Given the description of an element on the screen output the (x, y) to click on. 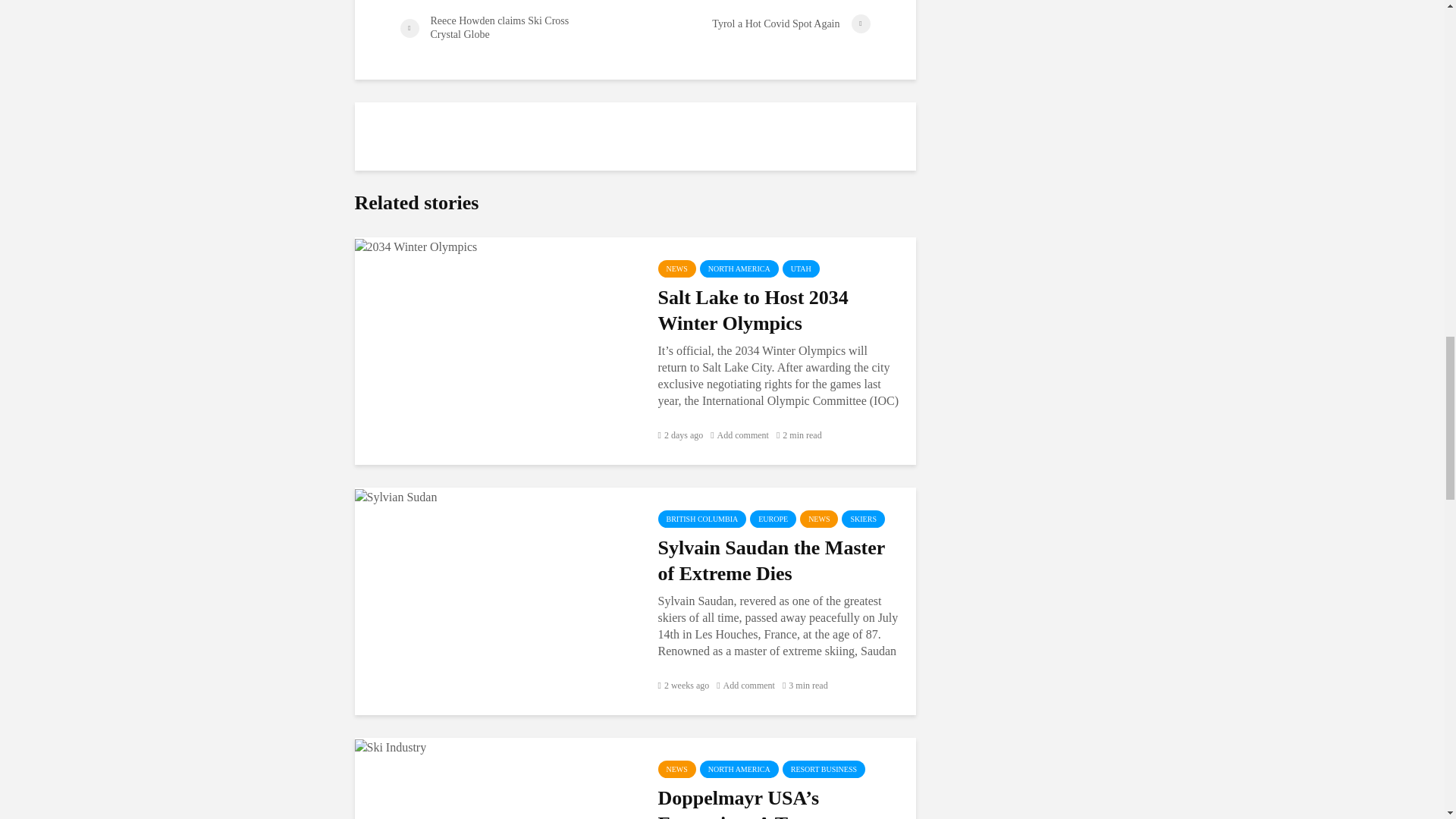
Sylvain Saudan the Master of Extreme Dies (396, 495)
Salt Lake to Host 2034 Winter Olympics (416, 245)
